Given the description of an element on the screen output the (x, y) to click on. 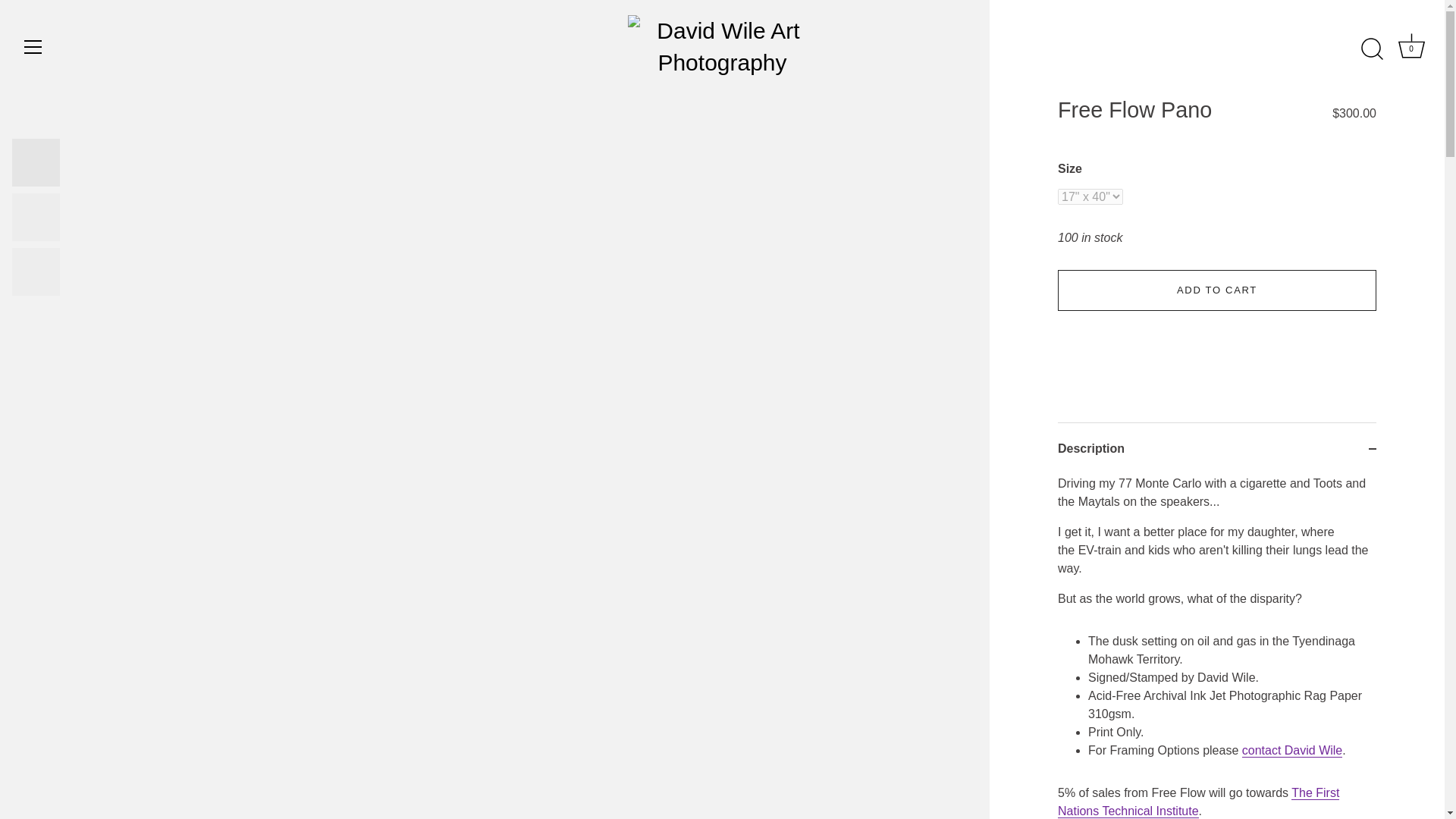
The First Nations Technical Institute (1198, 802)
contact David Wile (1291, 750)
Email David Wile (1411, 49)
Description (1291, 750)
ADD TO CART (1216, 449)
First Nations Technical Institute Website (1216, 290)
Cart (1198, 802)
